Given the description of an element on the screen output the (x, y) to click on. 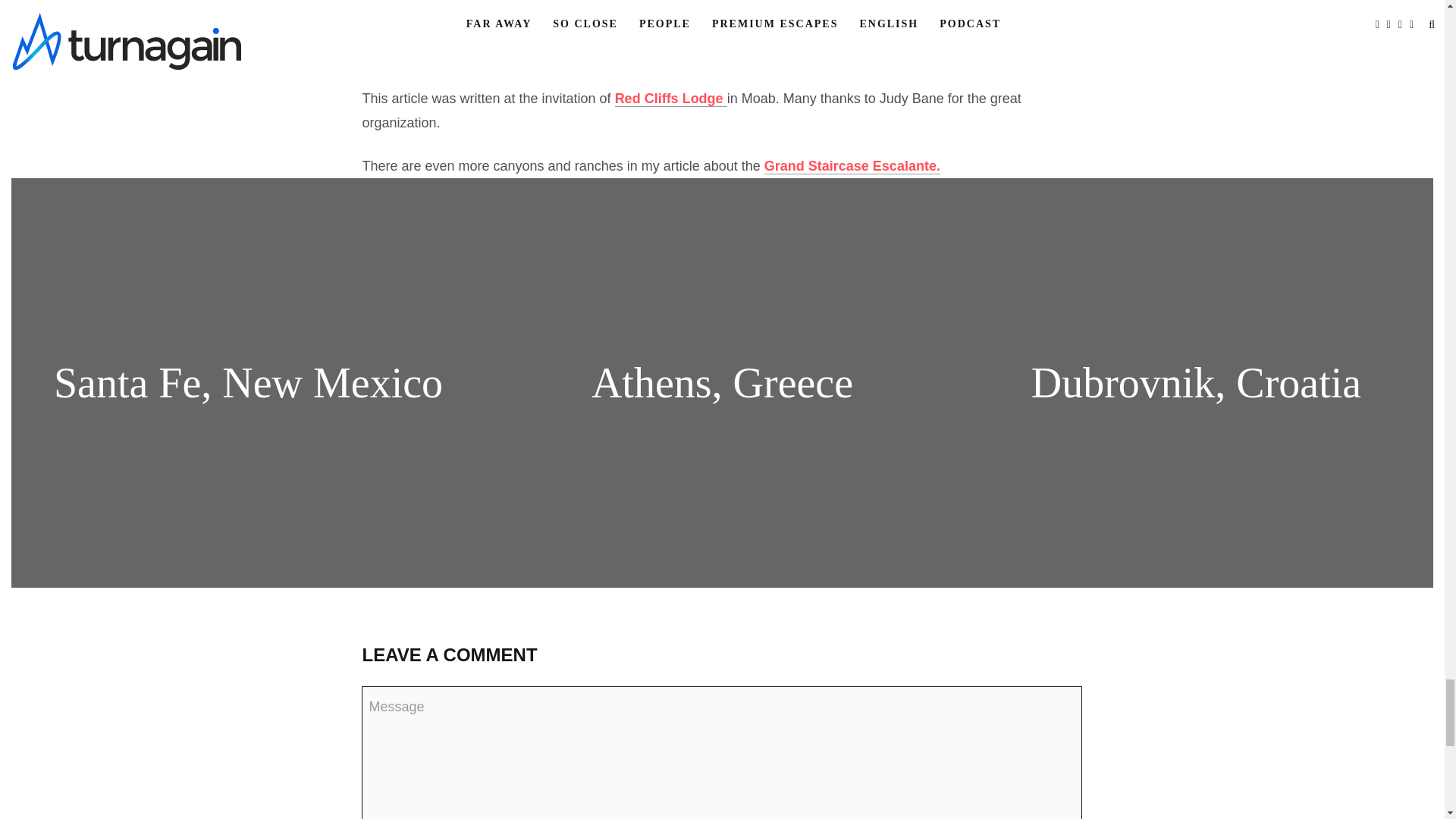
Grand Staircase Escalante. (852, 166)
Dubrovnik, Croatia (1195, 382)
Athens, Greece (721, 382)
Santa Fe, New Mexico (247, 382)
Red Cliffs Lodge (670, 98)
